Given the description of an element on the screen output the (x, y) to click on. 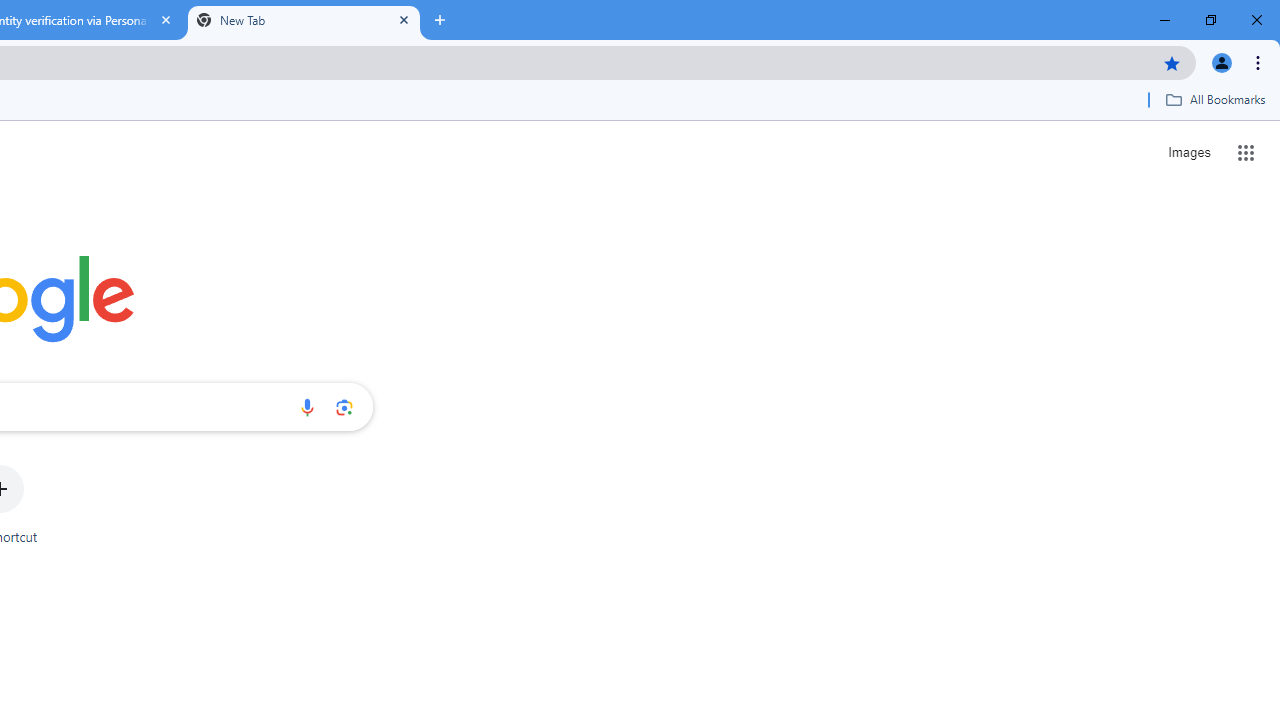
New Tab (304, 20)
